Given the description of an element on the screen output the (x, y) to click on. 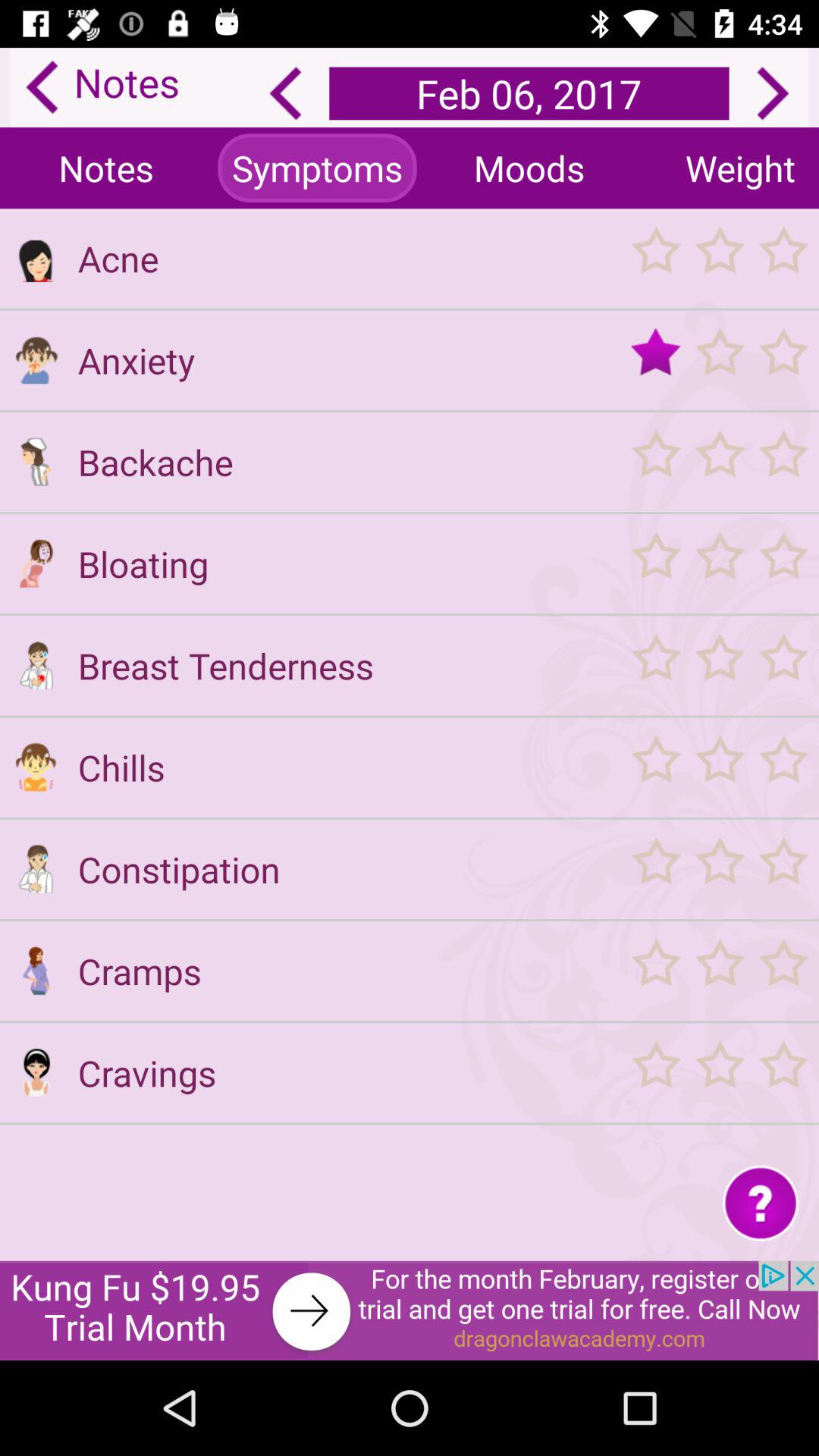
previous page (285, 93)
